Given the description of an element on the screen output the (x, y) to click on. 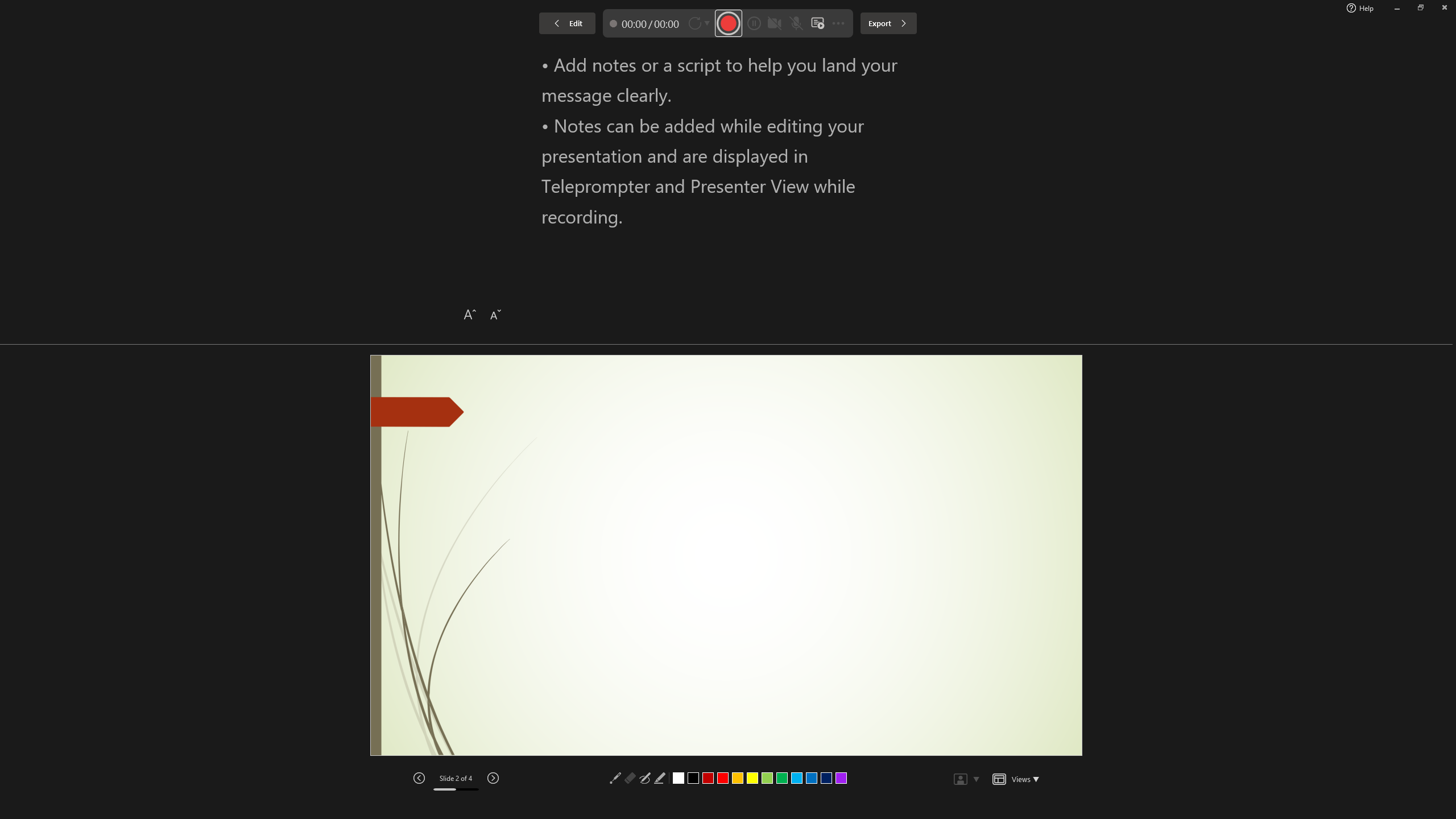
Insert a SmartArt Graphic (965, 461)
Audio (193, 58)
Stock Images (904, 461)
Content Placeholder (934, 471)
Export to Video (332, 58)
